Given the description of an element on the screen output the (x, y) to click on. 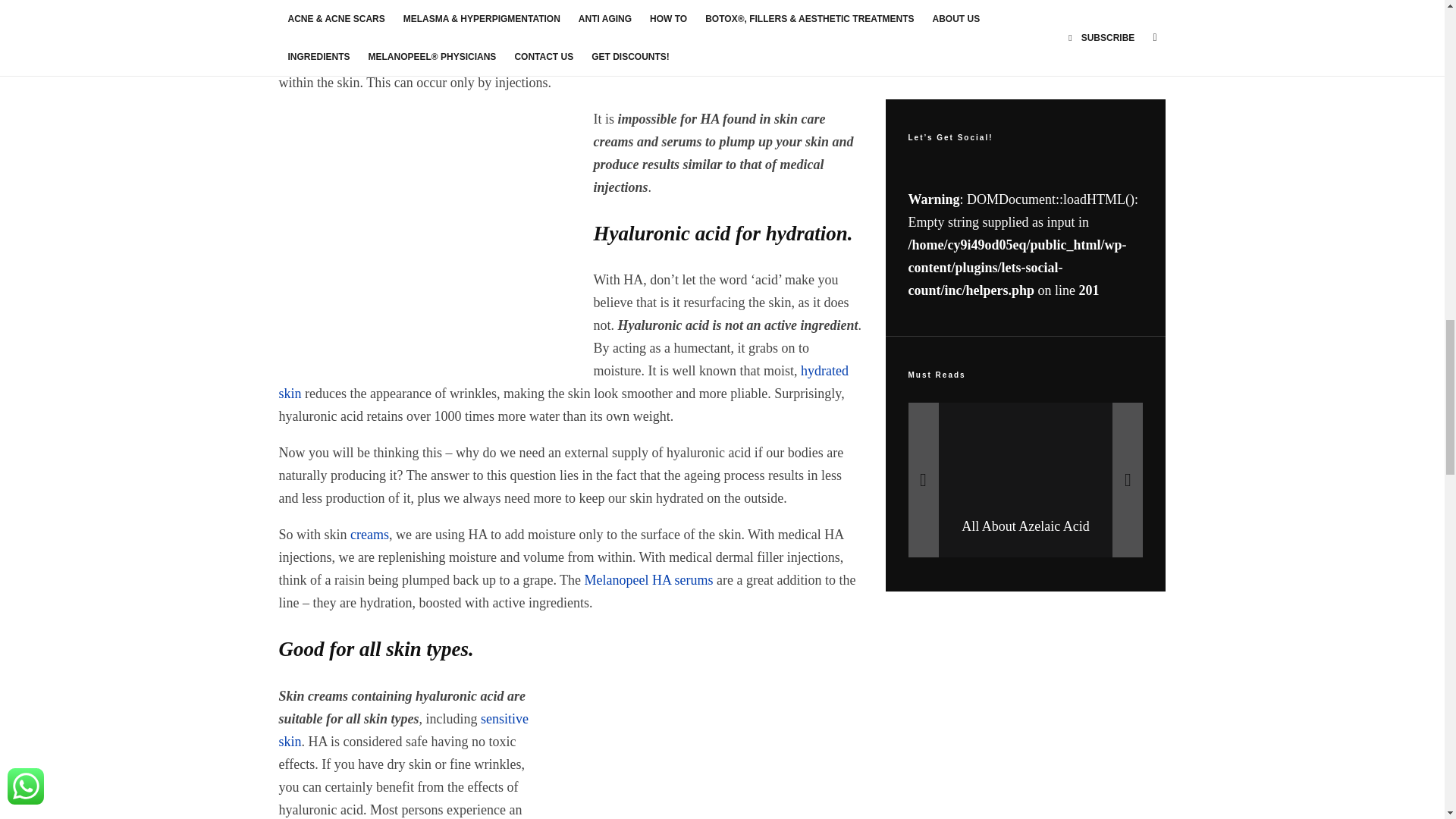
sensitive skin (404, 730)
hydrated skin (563, 382)
Melanopeel HA serums (649, 580)
creams (369, 534)
